Given the description of an element on the screen output the (x, y) to click on. 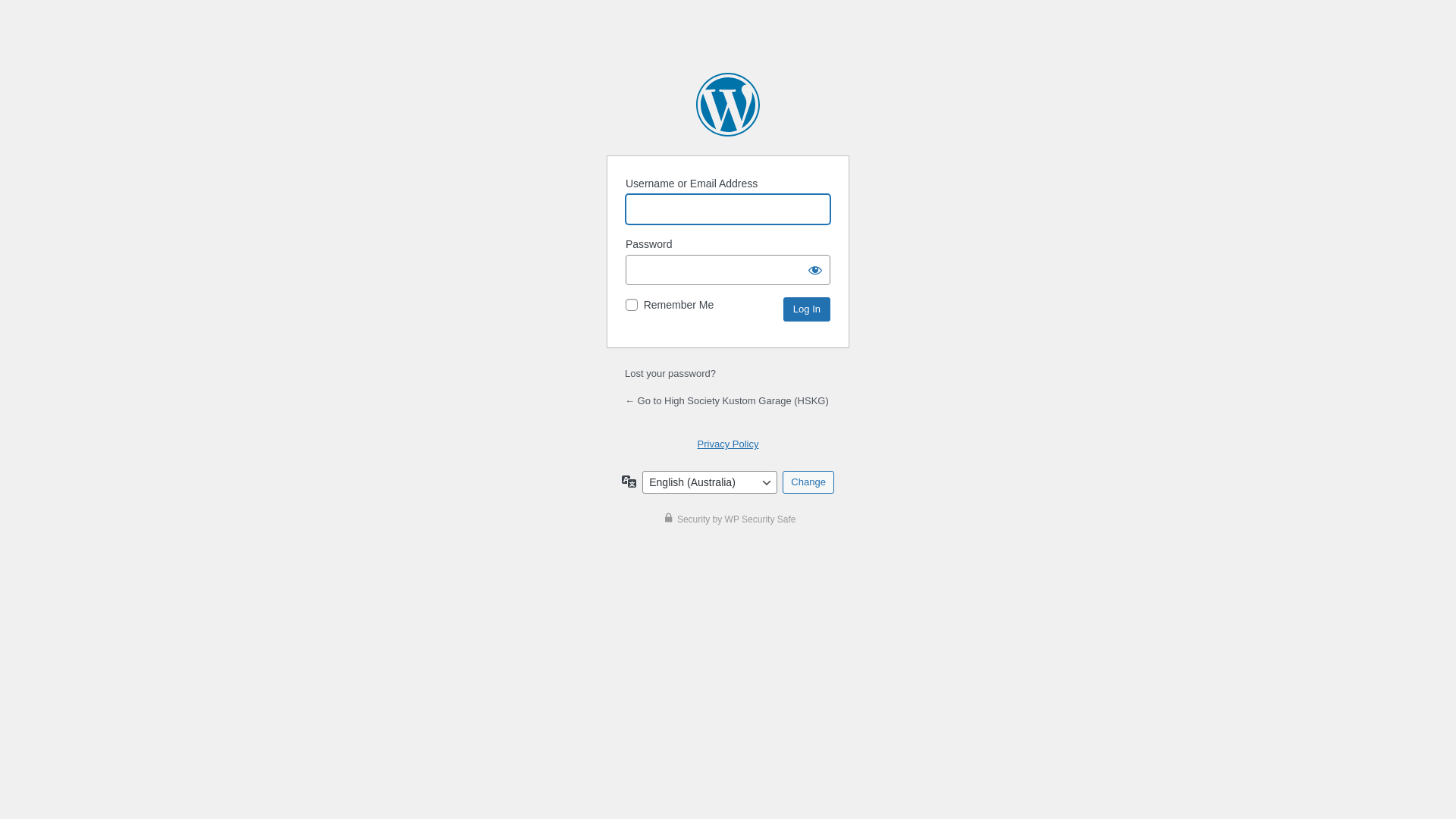
Change Element type: text (808, 481)
Powered by WordPress Element type: text (727, 104)
Log In Element type: text (806, 309)
Security by WP Security Safe Element type: text (728, 519)
Lost your password? Element type: text (669, 373)
Privacy Policy Element type: text (728, 443)
